Given the description of an element on the screen output the (x, y) to click on. 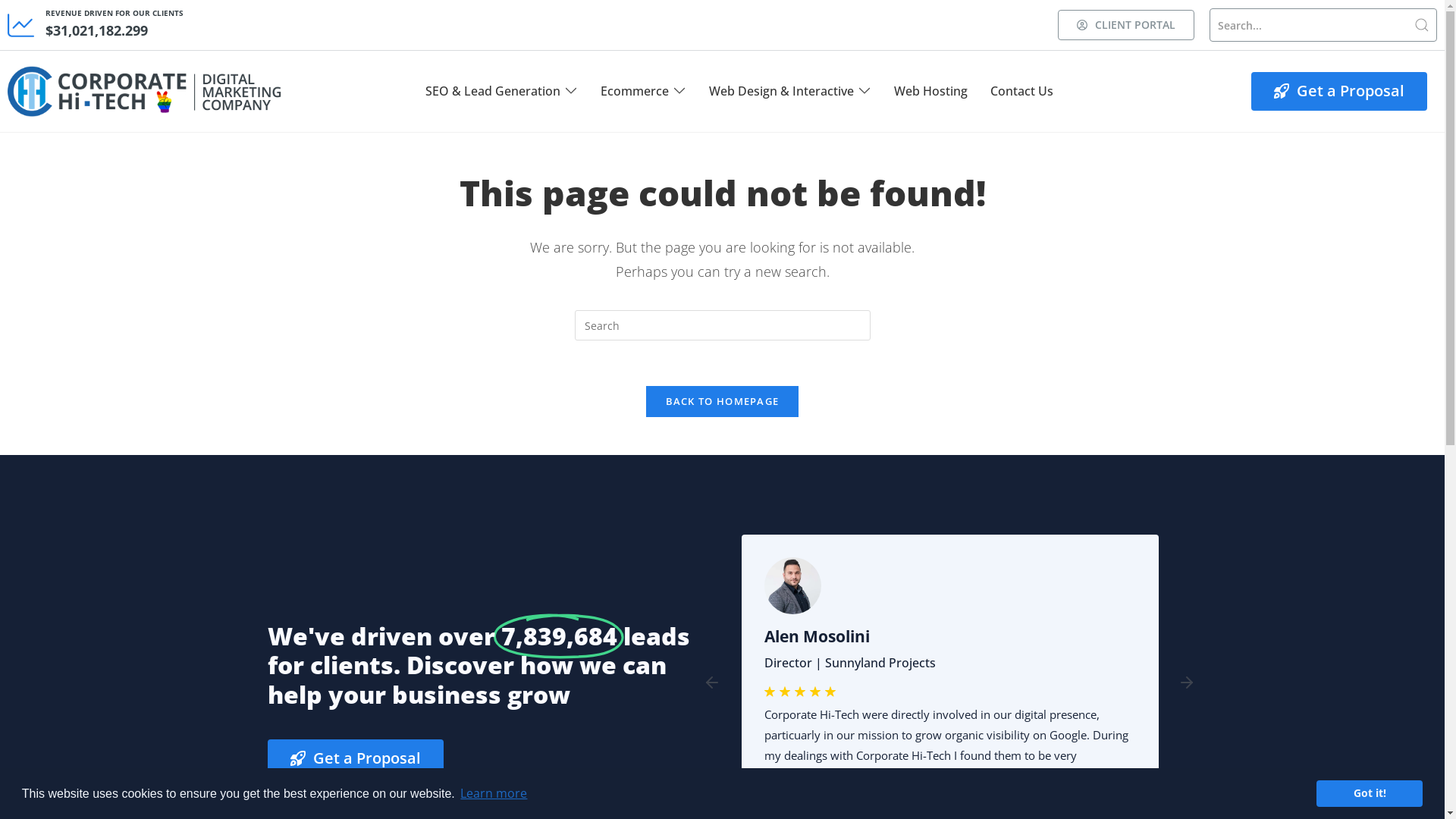
Get a Proposal Element type: text (354, 758)
CLIENT PORTAL Element type: text (1125, 24)
Web Design & Interactive Element type: text (781, 91)
Learn more Element type: text (493, 792)
SEO & Lead Generation Element type: text (492, 91)
Got it! Element type: text (1369, 792)
BACK TO HOMEPAGE Element type: text (722, 401)
Contact Us Element type: text (1021, 91)
Web Hosting Element type: text (930, 91)
Ecommerce Element type: text (634, 91)
Get a Proposal Element type: text (1339, 91)
Search Element type: hover (1323, 24)
